Given the description of an element on the screen output the (x, y) to click on. 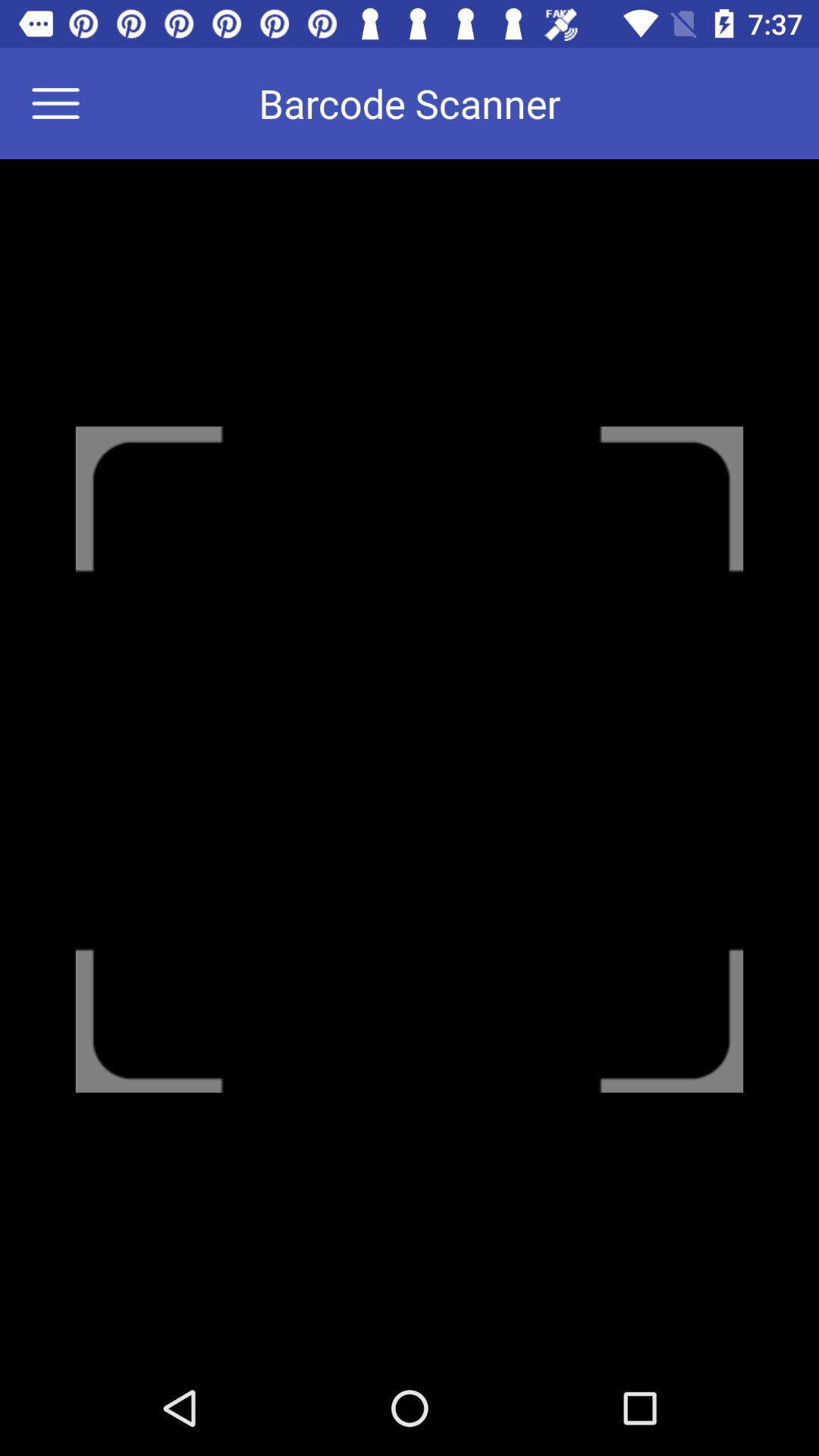
launch item to the left of barcode scanner icon (65, 103)
